Given the description of an element on the screen output the (x, y) to click on. 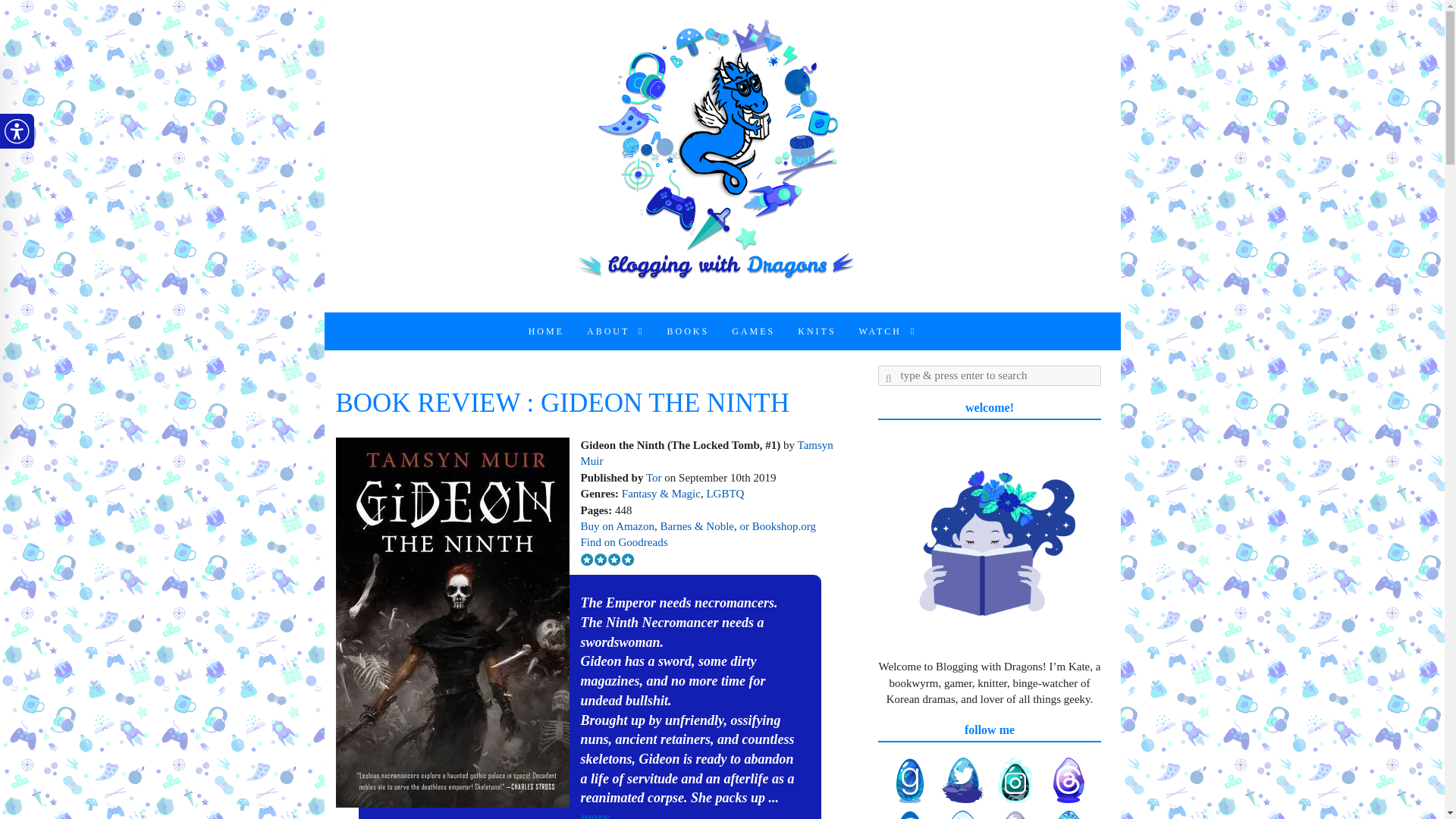
Tor (654, 477)
GAMES (753, 331)
Buy on Amazon (617, 526)
KNITS (816, 331)
BOOKS (688, 331)
ABOUT   (615, 331)
LGBTQ (725, 493)
Books (688, 331)
or Bookshop.org (775, 526)
Tamsyn Muir (706, 452)
more (595, 814)
HOME (545, 331)
Book Review : Gideon the Ninth (451, 622)
WATCH   (887, 331)
Find on Goodreads (624, 541)
